Given the description of an element on the screen output the (x, y) to click on. 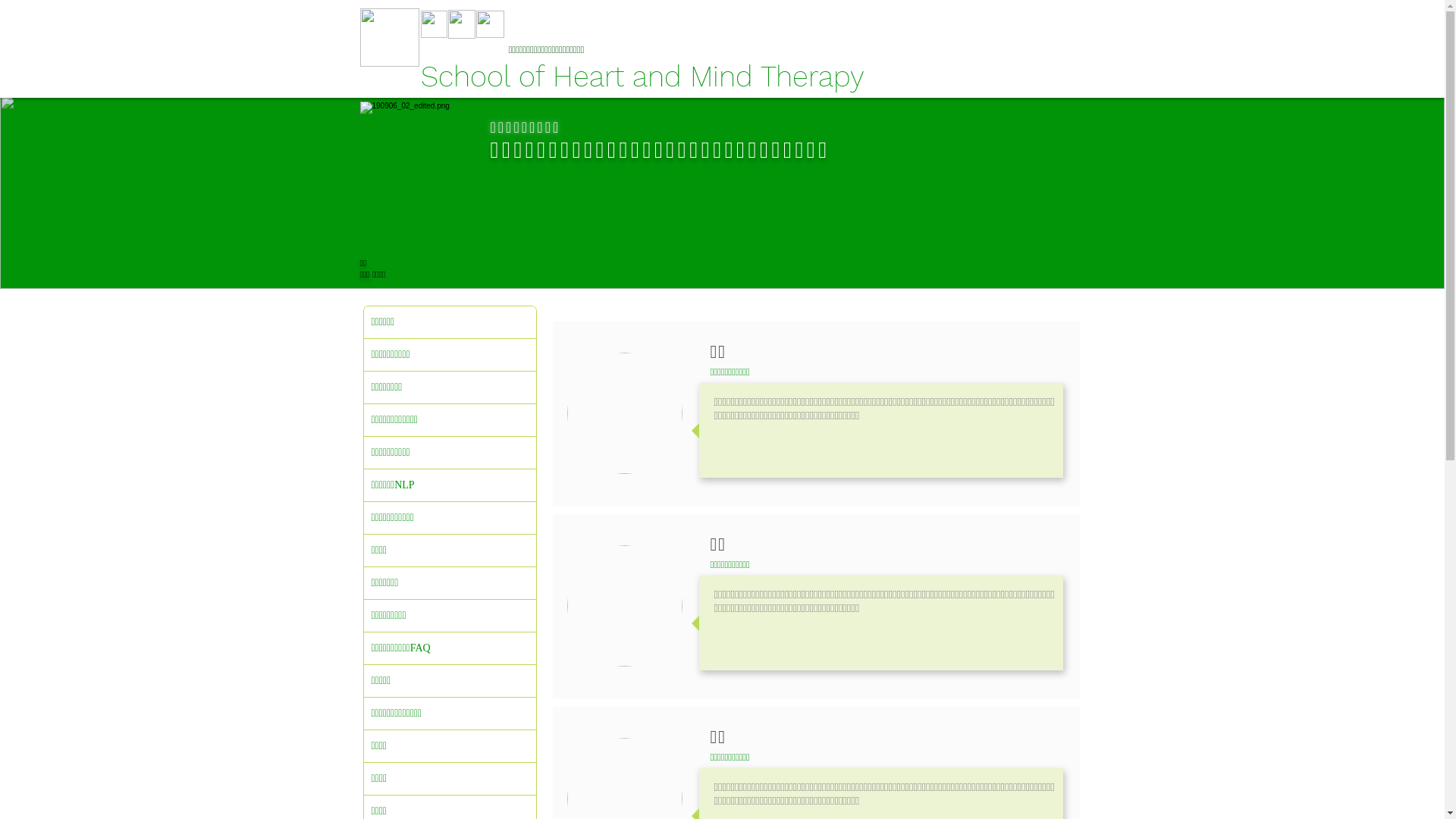
School of Heart and Mind Therapy   Element type: text (650, 74)
